Given the description of an element on the screen output the (x, y) to click on. 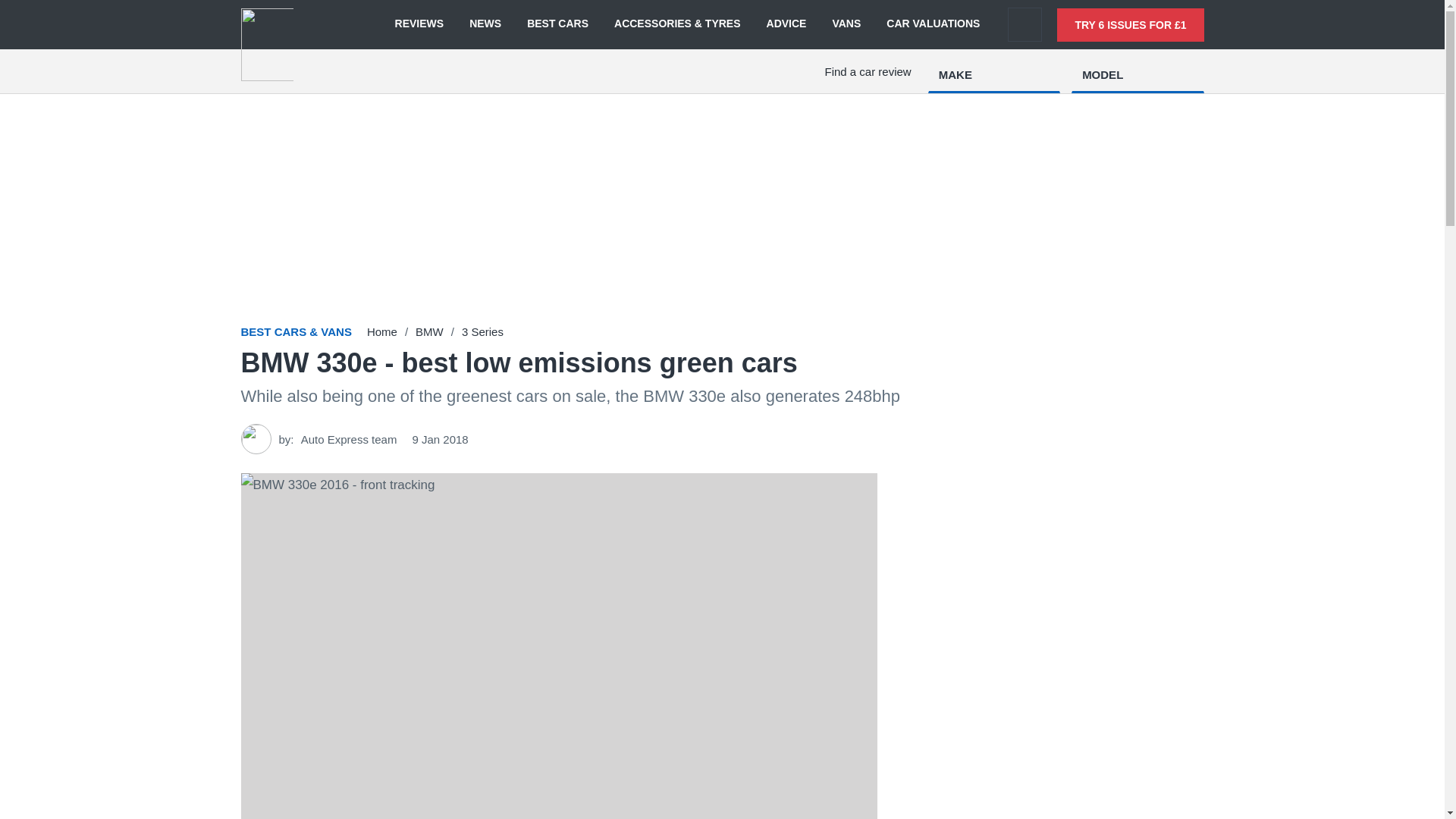
Search (1024, 24)
VANS (845, 24)
ADVICE (786, 24)
BEST CARS (557, 24)
CAR VALUATIONS (932, 24)
REVIEWS (419, 24)
Search (1024, 24)
NEWS (485, 24)
